Given the description of an element on the screen output the (x, y) to click on. 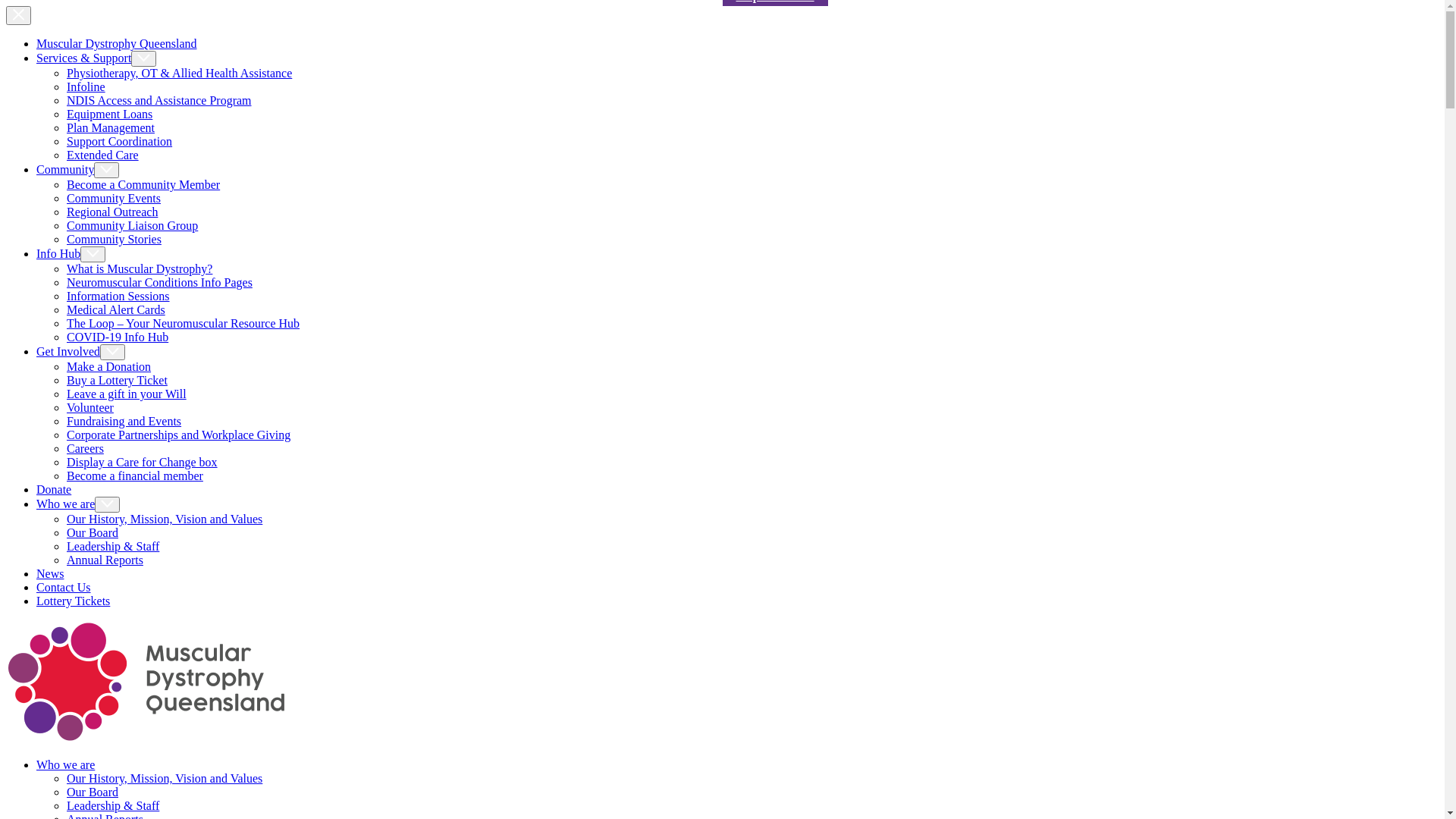
Community Liaison Group Element type: text (131, 225)
Our Board Element type: text (92, 532)
Our History, Mission, Vision and Values Element type: text (164, 777)
Regional Outreach Element type: text (111, 211)
Corporate Partnerships and Workplace Giving Element type: text (178, 434)
COVID-19 Info Hub Element type: text (117, 336)
Contact Us Element type: text (63, 586)
Our History, Mission, Vision and Values Element type: text (164, 518)
Who we are Element type: text (65, 764)
Muscular Dystrophy Queensland Element type: text (116, 43)
Medical Alert Cards Element type: text (115, 309)
Get Involved Element type: text (80, 351)
Our Board Element type: text (92, 791)
Leadership & Staff Element type: text (112, 805)
Infoline Element type: text (85, 86)
Plan Management Element type: text (110, 127)
Services & Support Element type: text (96, 57)
Make a Donation Element type: text (108, 366)
Equipment Loans Element type: text (109, 113)
Leadership & Staff Element type: text (112, 545)
Donate Element type: text (53, 489)
Info Hub Element type: text (70, 253)
Who we are Element type: text (77, 503)
NDIS Access and Assistance Program Element type: text (158, 100)
Community Stories Element type: text (113, 238)
Leave a gift in your Will Element type: text (126, 393)
Neuromuscular Conditions Info Pages Element type: text (159, 282)
Community Events Element type: text (113, 197)
News Element type: text (49, 573)
Volunteer Element type: text (89, 407)
Fundraising and Events Element type: text (123, 420)
Careers Element type: text (84, 448)
Display a Care for Change box Element type: text (141, 461)
Physiotherapy, OT & Allied Health Assistance Element type: text (178, 72)
Become a financial member Element type: text (134, 475)
What is Muscular Dystrophy? Element type: text (139, 268)
Community Element type: text (77, 169)
Lottery Tickets Element type: text (72, 600)
Buy a Lottery Ticket Element type: text (116, 379)
Become a Community Member Element type: text (142, 184)
Extended Care Element type: text (102, 154)
Annual Reports Element type: text (104, 559)
Support Coordination Element type: text (119, 140)
Information Sessions Element type: text (117, 295)
